Given the description of an element on the screen output the (x, y) to click on. 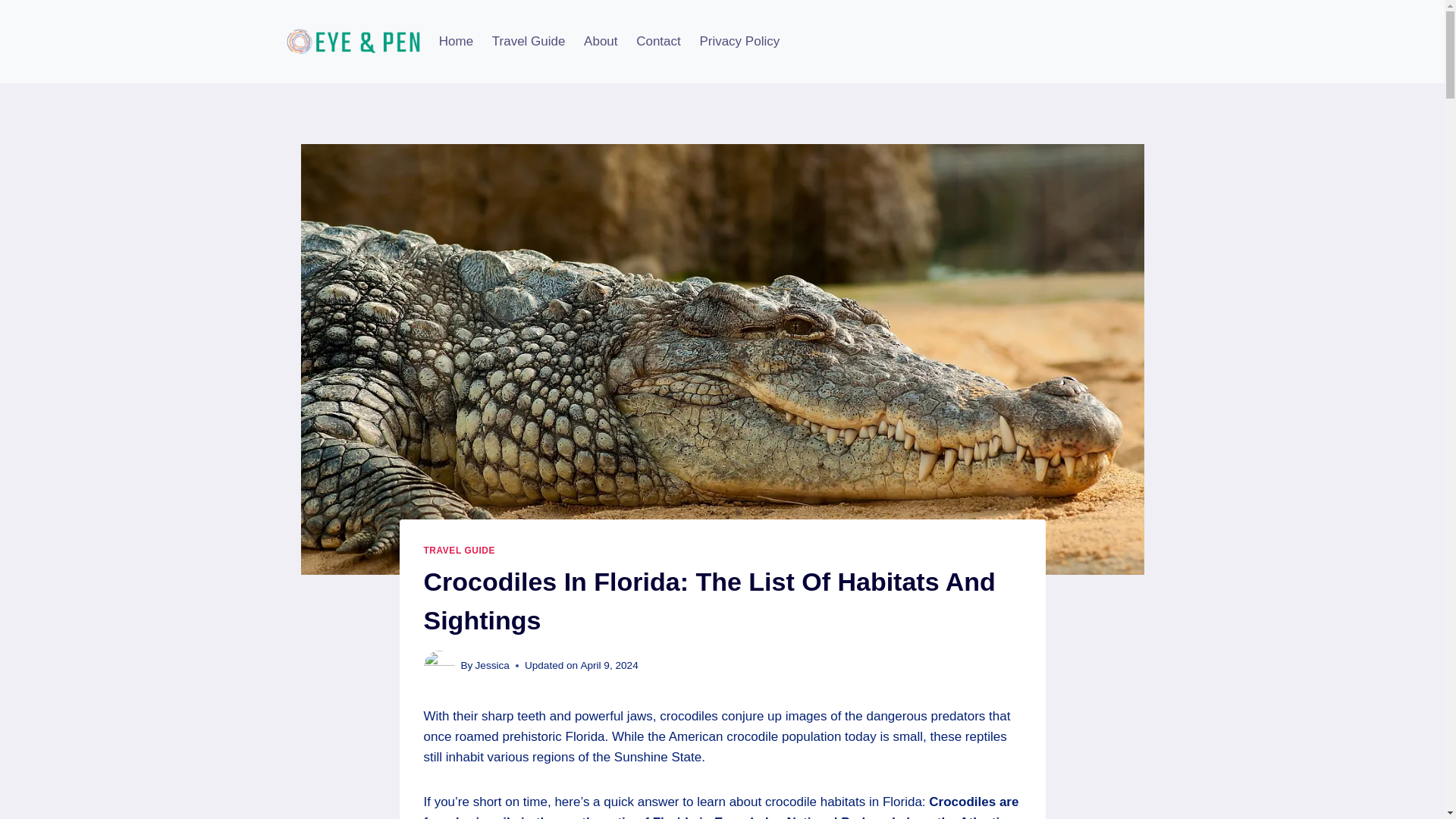
Privacy Policy (739, 41)
Home (455, 41)
Travel Guide (527, 41)
Jessica (492, 665)
Contact (658, 41)
About (601, 41)
TRAVEL GUIDE (459, 550)
